Given the description of an element on the screen output the (x, y) to click on. 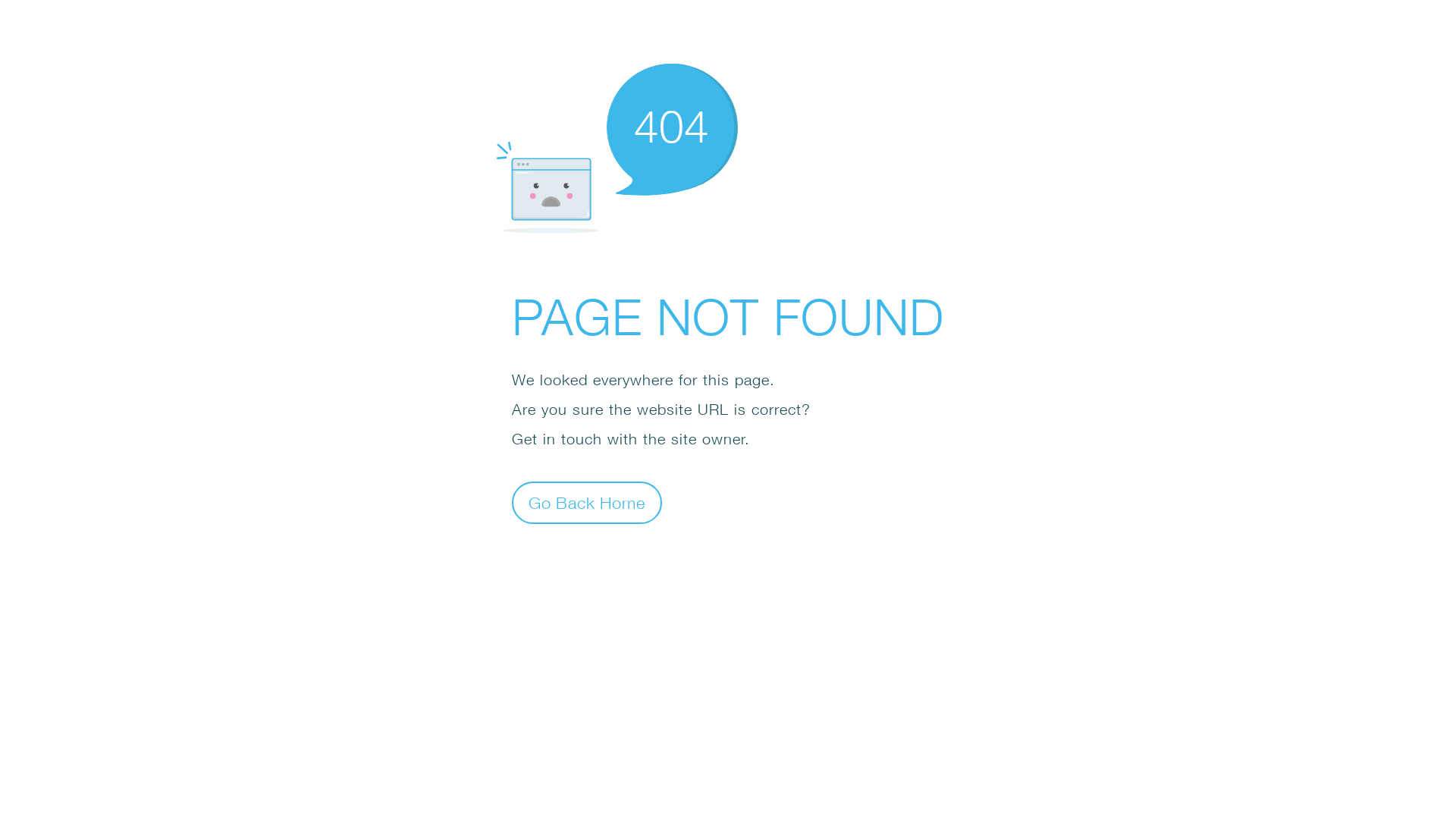
Go Back Home Element type: text (586, 502)
